Given the description of an element on the screen output the (x, y) to click on. 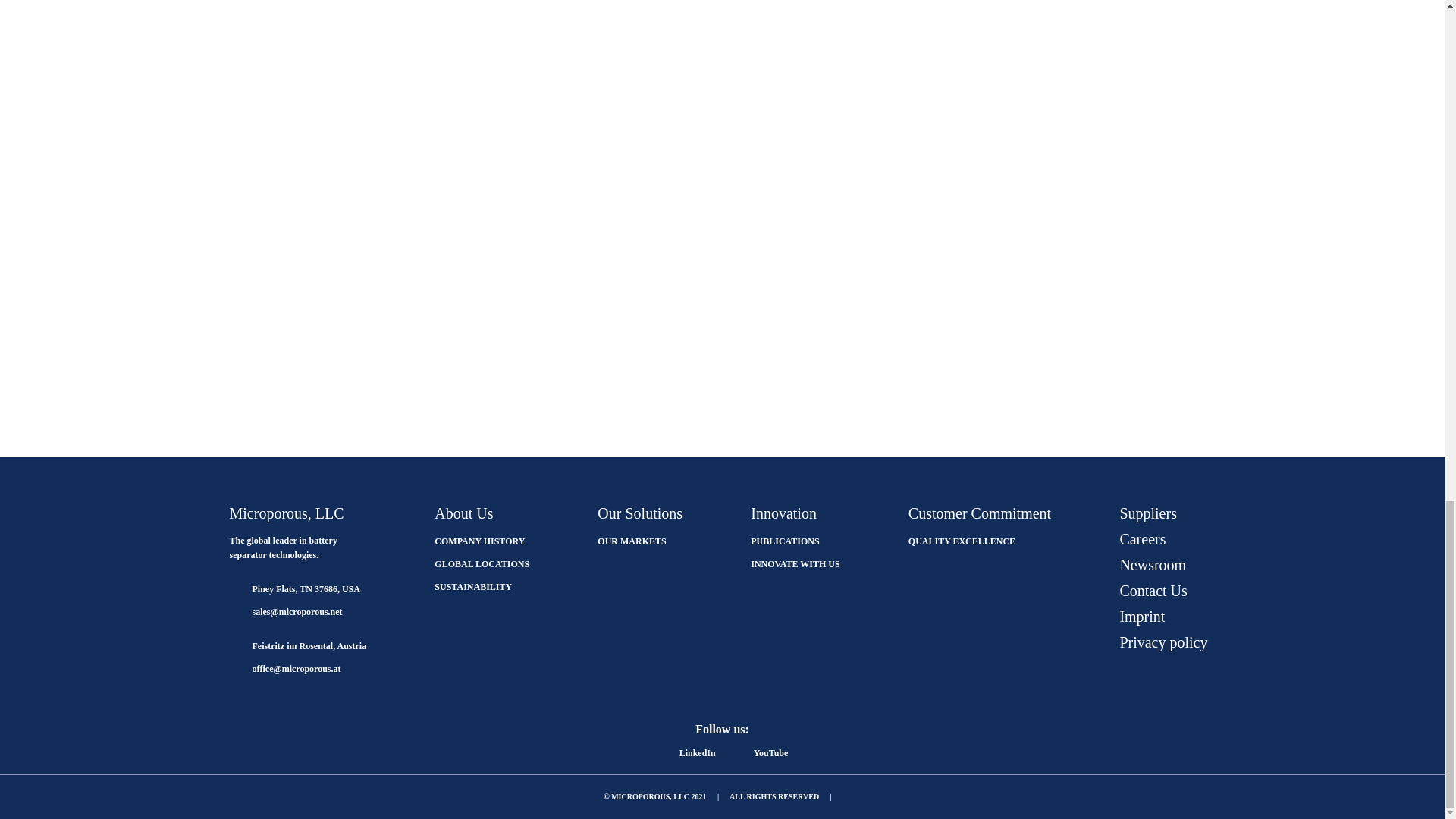
About Us (463, 513)
Our Solutions (639, 513)
Newsroom (1152, 565)
Suppliers (1147, 513)
Customer Commitment (979, 513)
Feistritz im Rosental, Austria (297, 645)
GLOBAL LOCATIONS (481, 563)
COMPANY HISTORY (478, 541)
INNOVATE WITH US (795, 563)
Piney Flats, TN 37686, USA (293, 588)
